Given the description of an element on the screen output the (x, y) to click on. 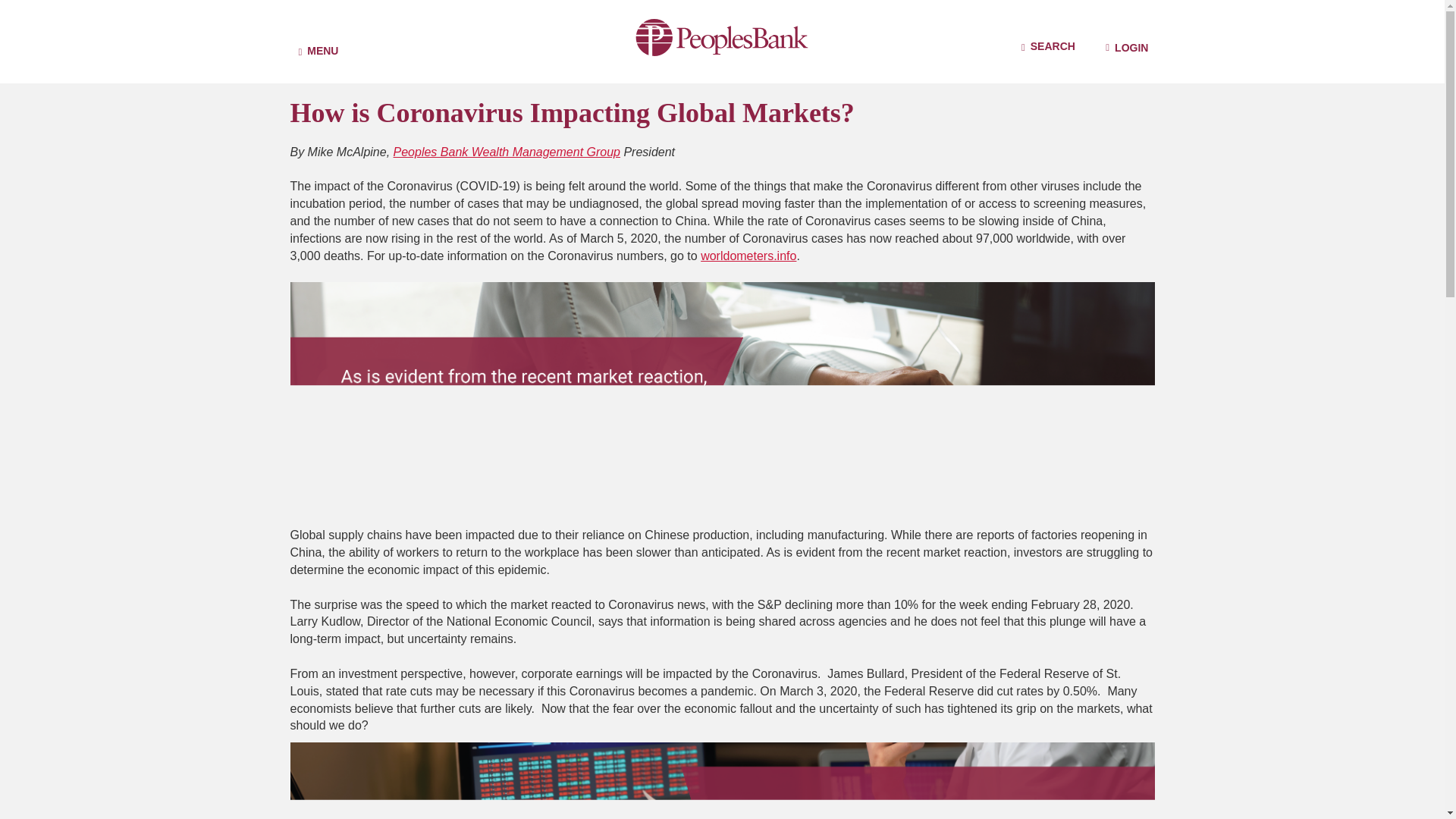
MENU (317, 41)
LOGIN (1126, 47)
Peoples Bank, Rock Valley, IA (722, 35)
SEARCH (1047, 47)
